Given the description of an element on the screen output the (x, y) to click on. 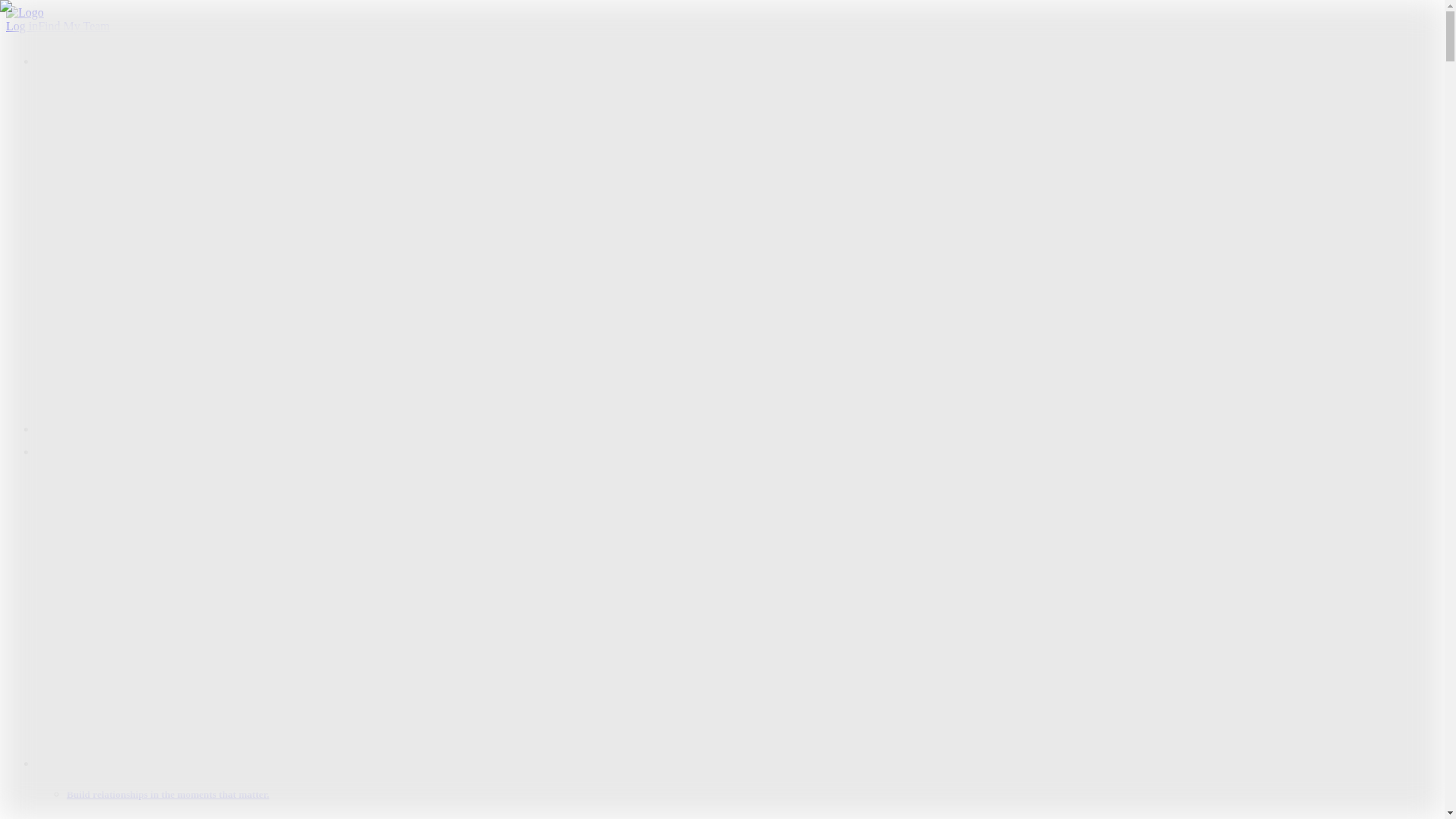
Careers (115, 726)
TournamentsBuild and manage your events (202, 332)
Blog (108, 599)
Overview (120, 278)
For Business Resources (154, 626)
Pricing (53, 428)
Program ManagementManage all aspects of your organization (247, 291)
About (112, 712)
RegistrationPayments, dues, and more (190, 318)
Get started!Chat with our team right now (197, 414)
SponsorshipAccess our network of opportunities (215, 305)
PaymentsA better way to manage payments (202, 346)
Find My Team (73, 25)
Log in (21, 25)
Help Center (126, 653)
